Given the description of an element on the screen output the (x, y) to click on. 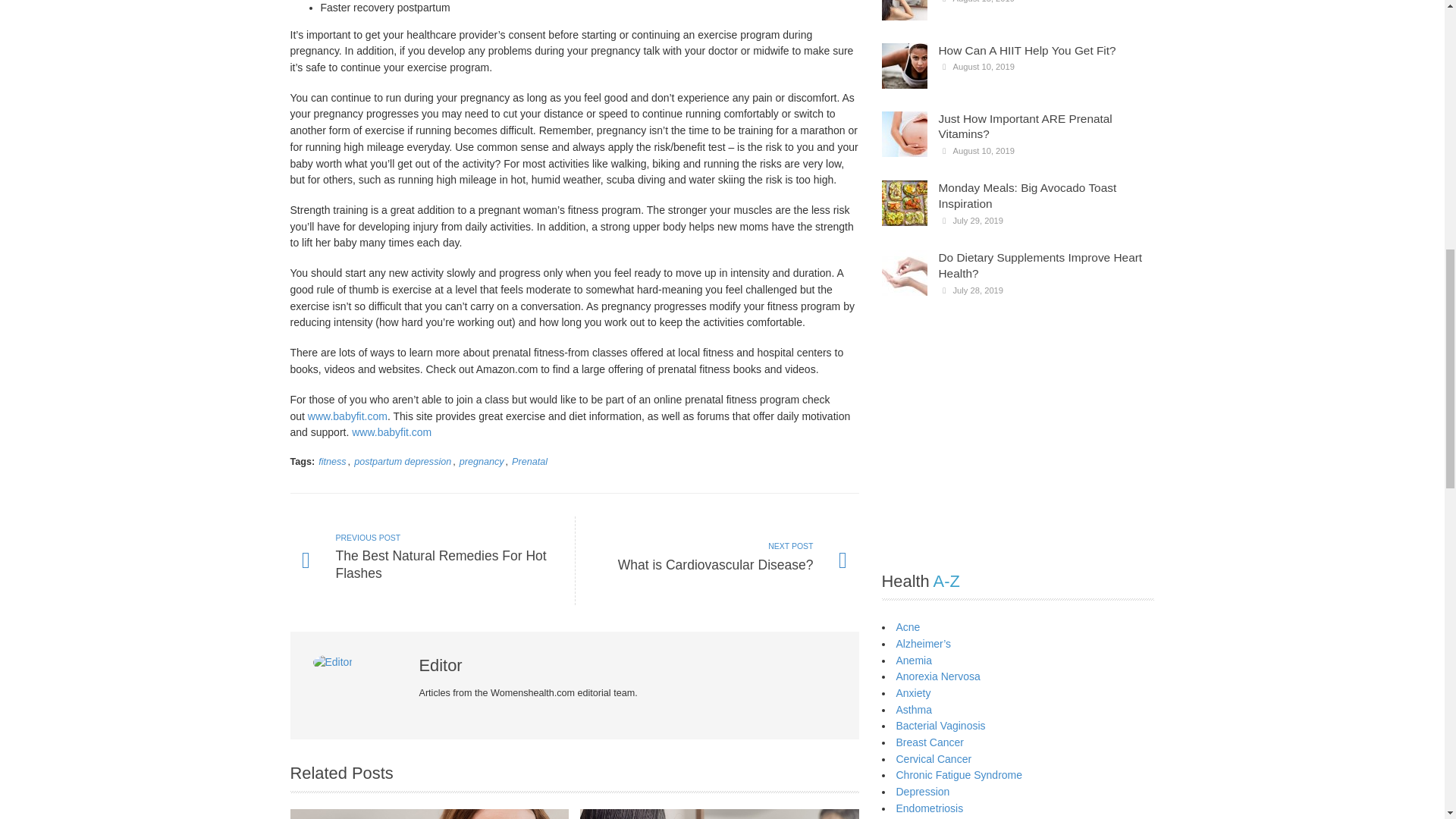
Prenatal (717, 560)
fitness (529, 461)
pregnancy (332, 461)
View all posts by Editor (481, 461)
www.babyfit.com (334, 662)
Baby Fit (347, 415)
postpartum depression (391, 431)
Baby Fit (431, 560)
www.babyfit.com (402, 461)
